Given the description of an element on the screen output the (x, y) to click on. 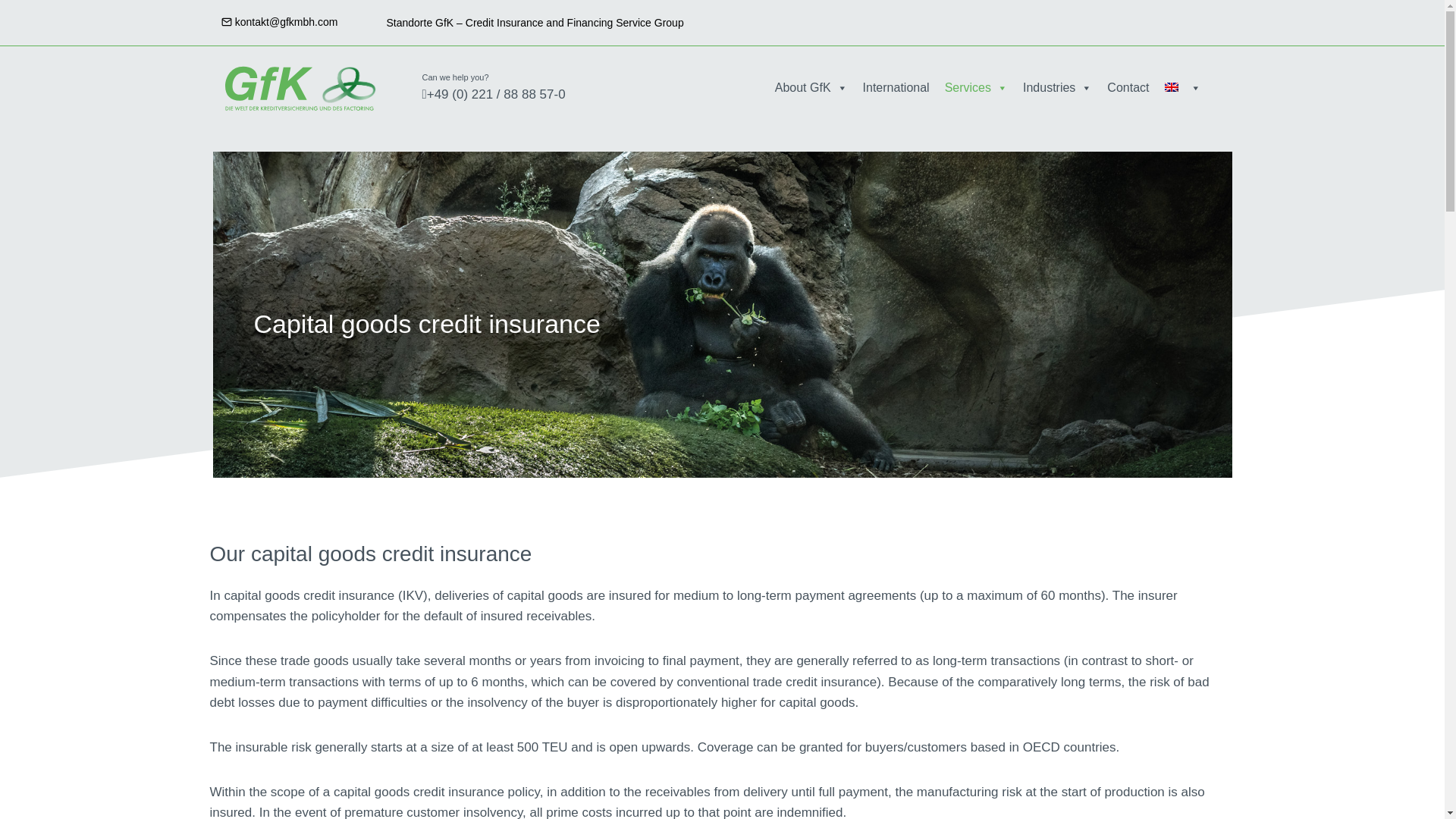
Services (975, 87)
International (896, 87)
About GfK (811, 87)
